Given the description of an element on the screen output the (x, y) to click on. 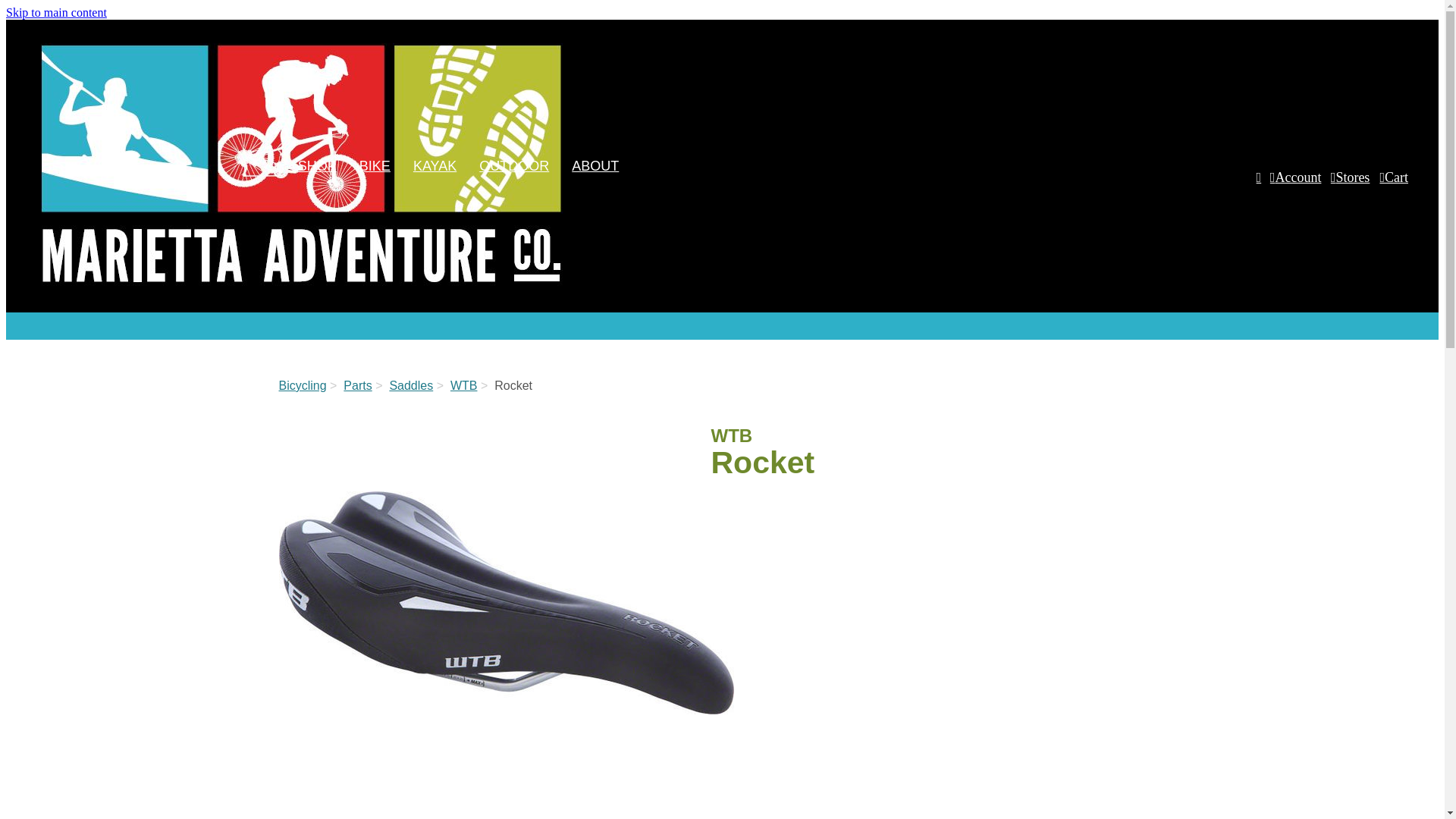
Stores (1350, 184)
Skip to main content (55, 11)
Marietta Adventure Company Home Page (303, 292)
Account (1295, 184)
Cart (1392, 184)
WTB Rocket (506, 602)
SHOP (316, 165)
